Given the description of an element on the screen output the (x, y) to click on. 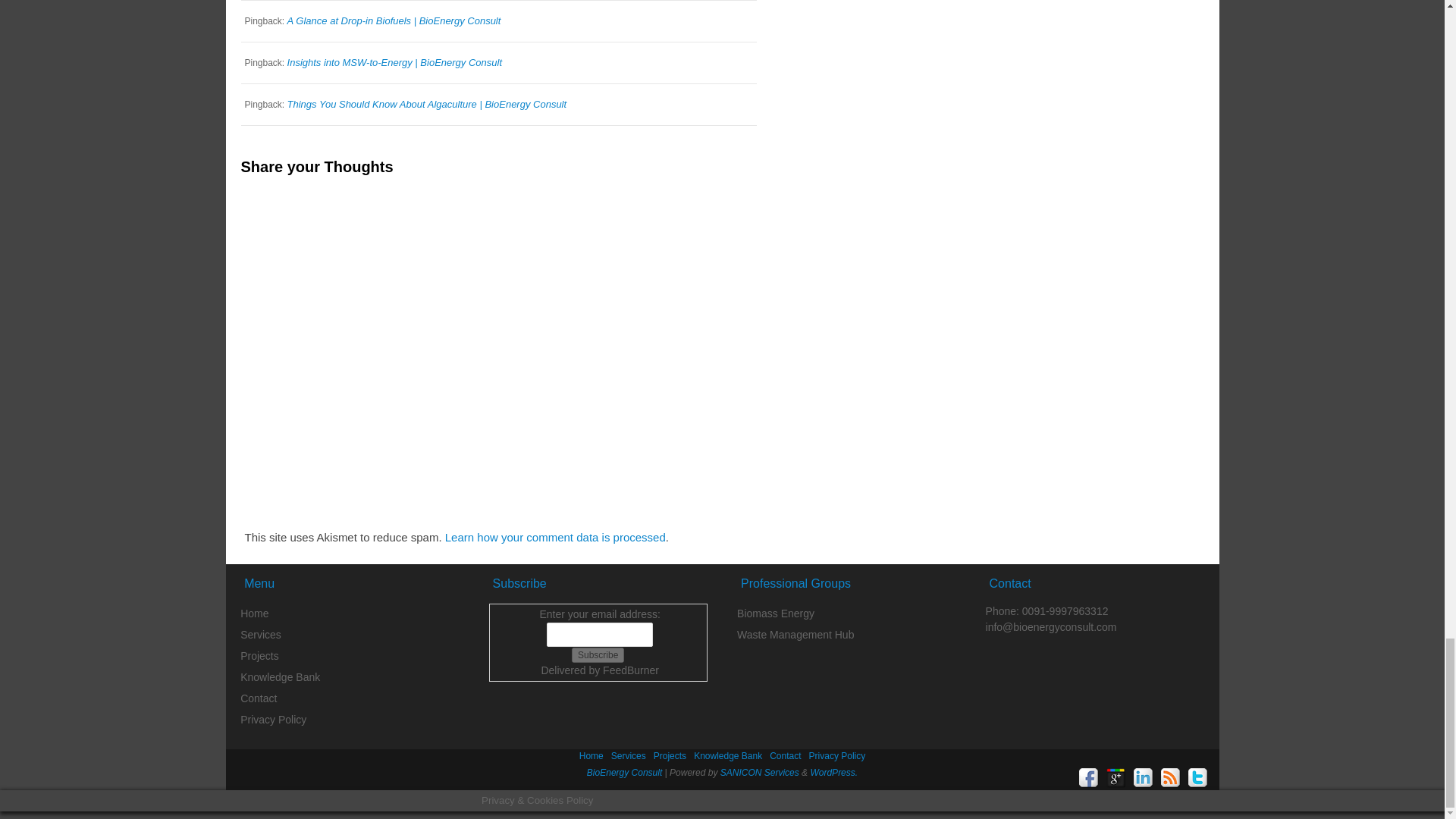
Subscribe (598, 654)
